Given the description of an element on the screen output the (x, y) to click on. 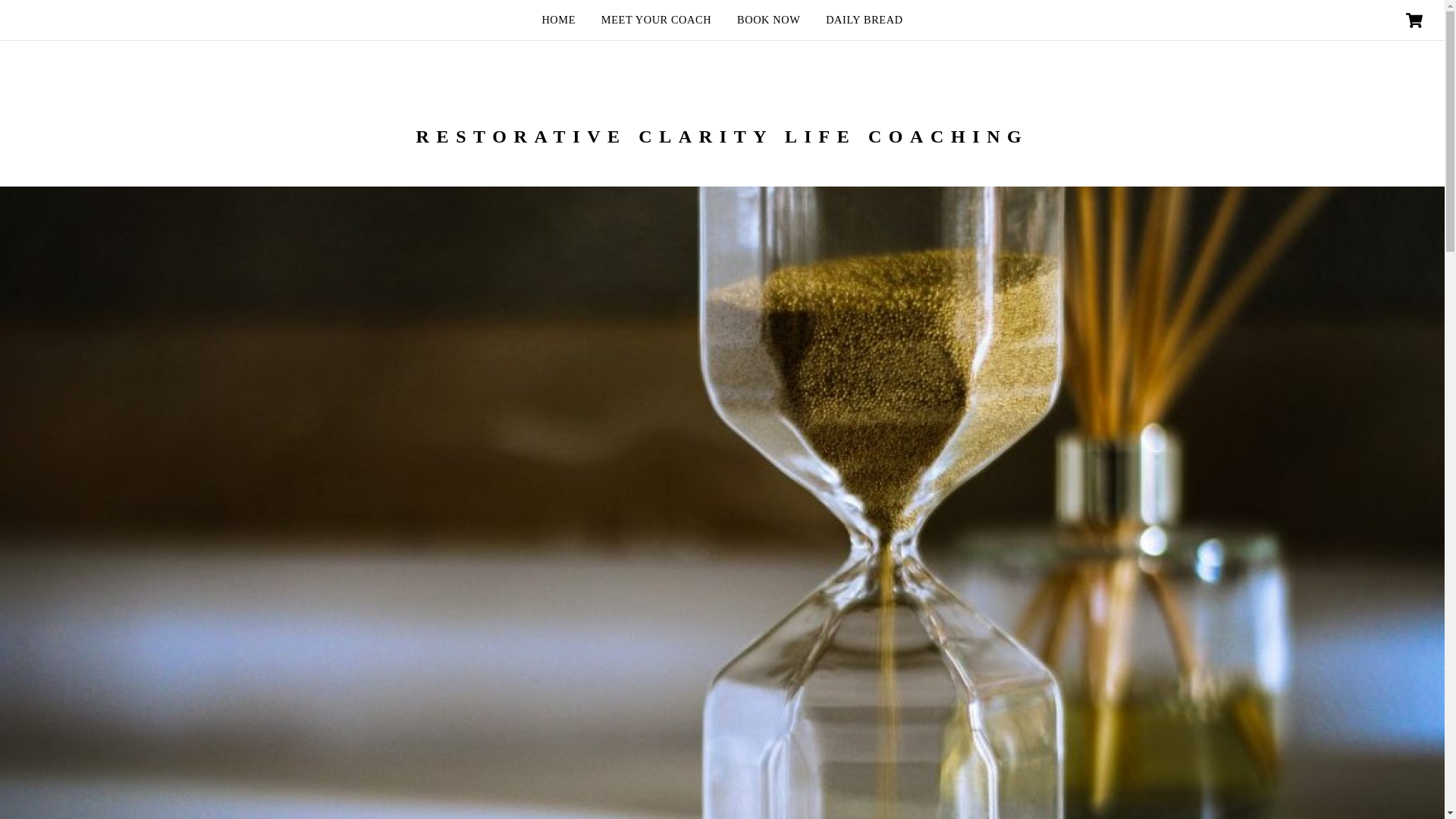
DAILY BREAD (863, 20)
BOOK NOW (767, 20)
HOME (558, 20)
RESTORATIVE CLARITY LIFE COACHING (722, 136)
Restorative Clarity Life Coaching (722, 136)
Cart (1414, 19)
MEET YOUR COACH (655, 20)
